Given the description of an element on the screen output the (x, y) to click on. 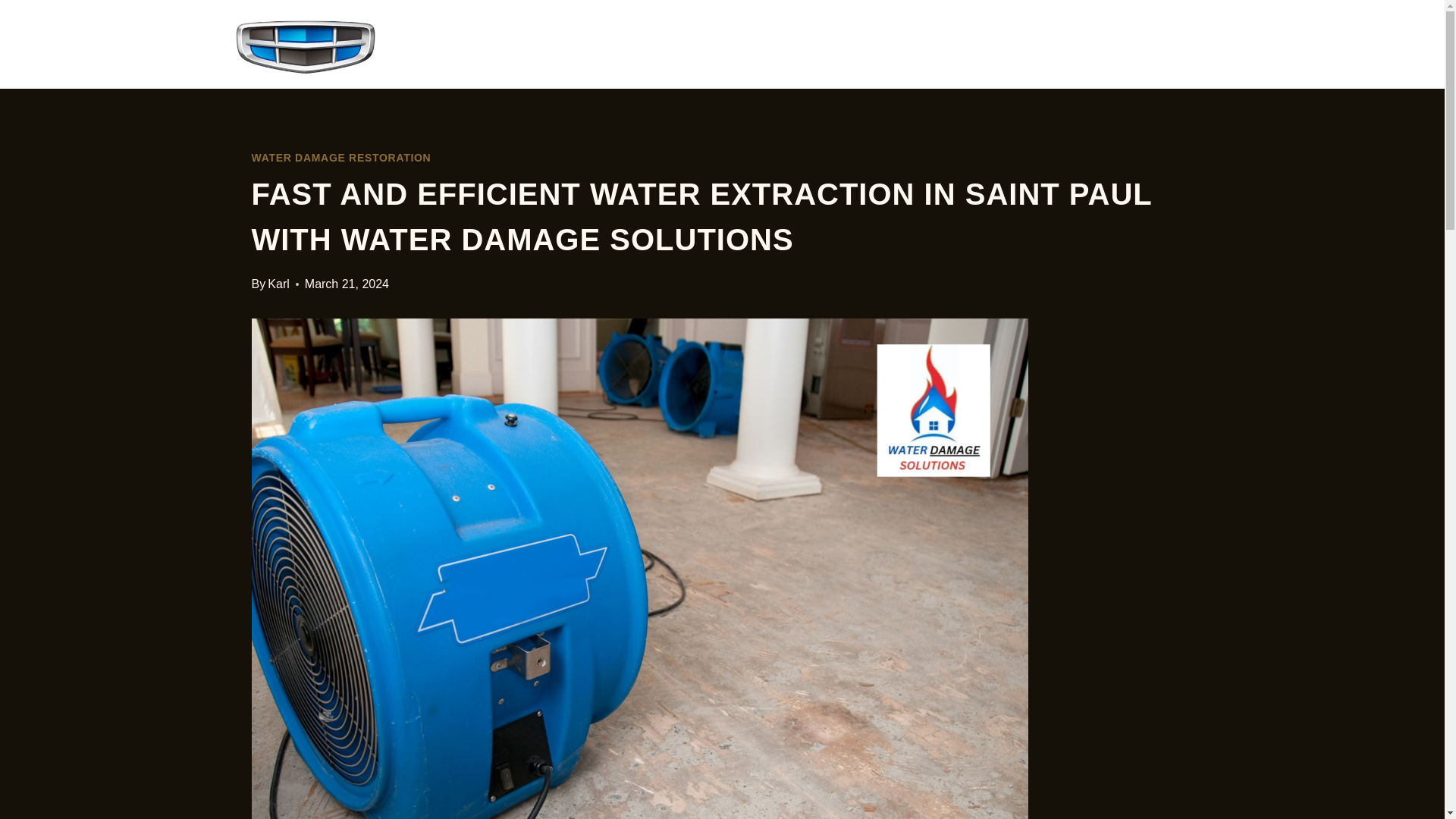
HOME (966, 43)
ABOUT (1067, 43)
Xtream Auto Shop (450, 46)
BLOG (1166, 43)
Karl (277, 283)
WATER DAMAGE RESTORATION (340, 157)
